Given the description of an element on the screen output the (x, y) to click on. 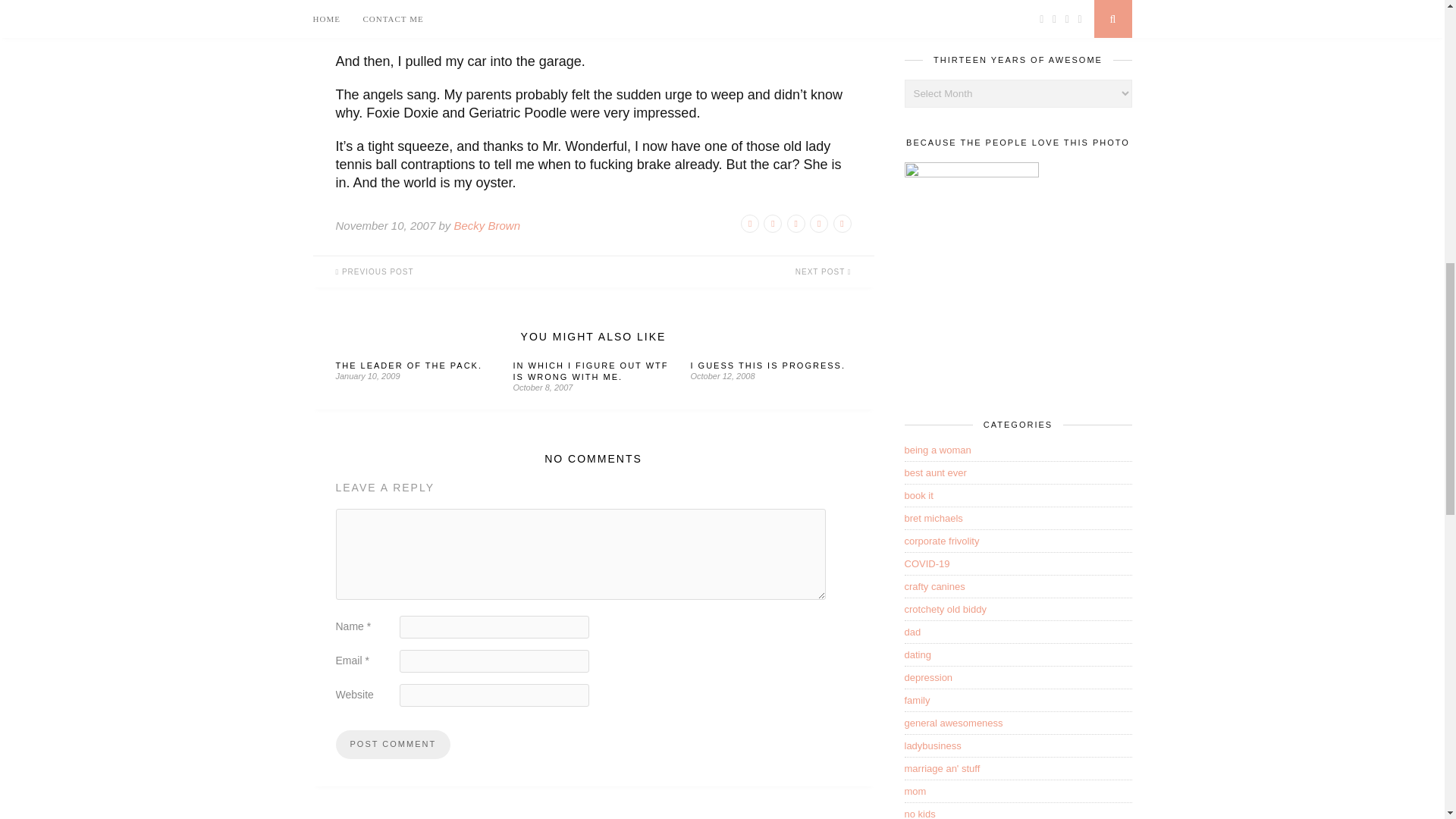
I GUESS THIS IS PROGRESS. (767, 365)
family (917, 699)
depression (928, 677)
PREVIOUS POST (452, 271)
COVID-19 (926, 563)
Post Comment (391, 744)
Post Comment (391, 744)
book it (918, 495)
bret michaels (933, 518)
IN WHICH I FIGURE OUT WTF IS WRONG WITH ME. (590, 371)
